Given the description of an element on the screen output the (x, y) to click on. 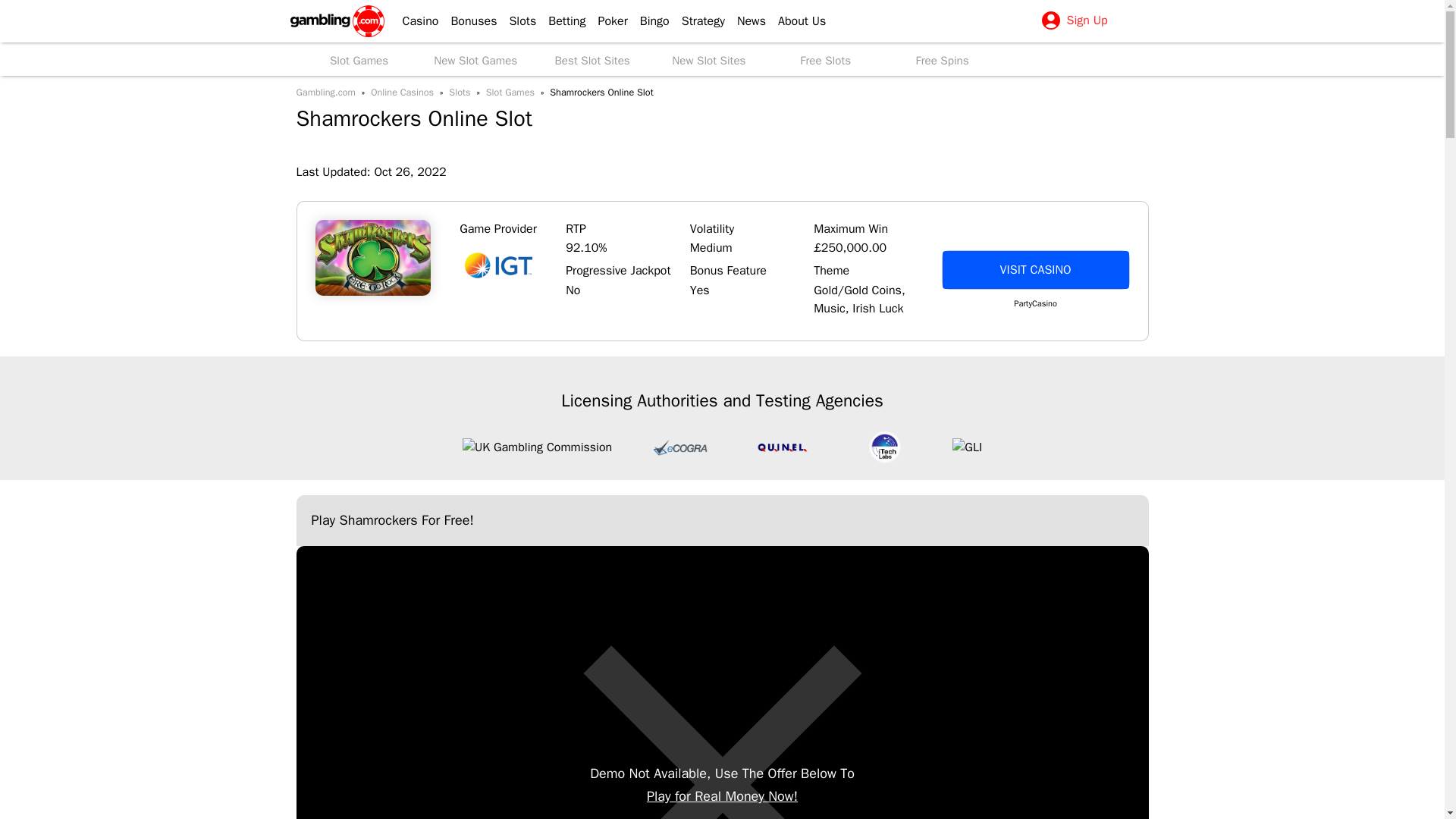
Casino (414, 21)
Bonuses (467, 21)
